Given the description of an element on the screen output the (x, y) to click on. 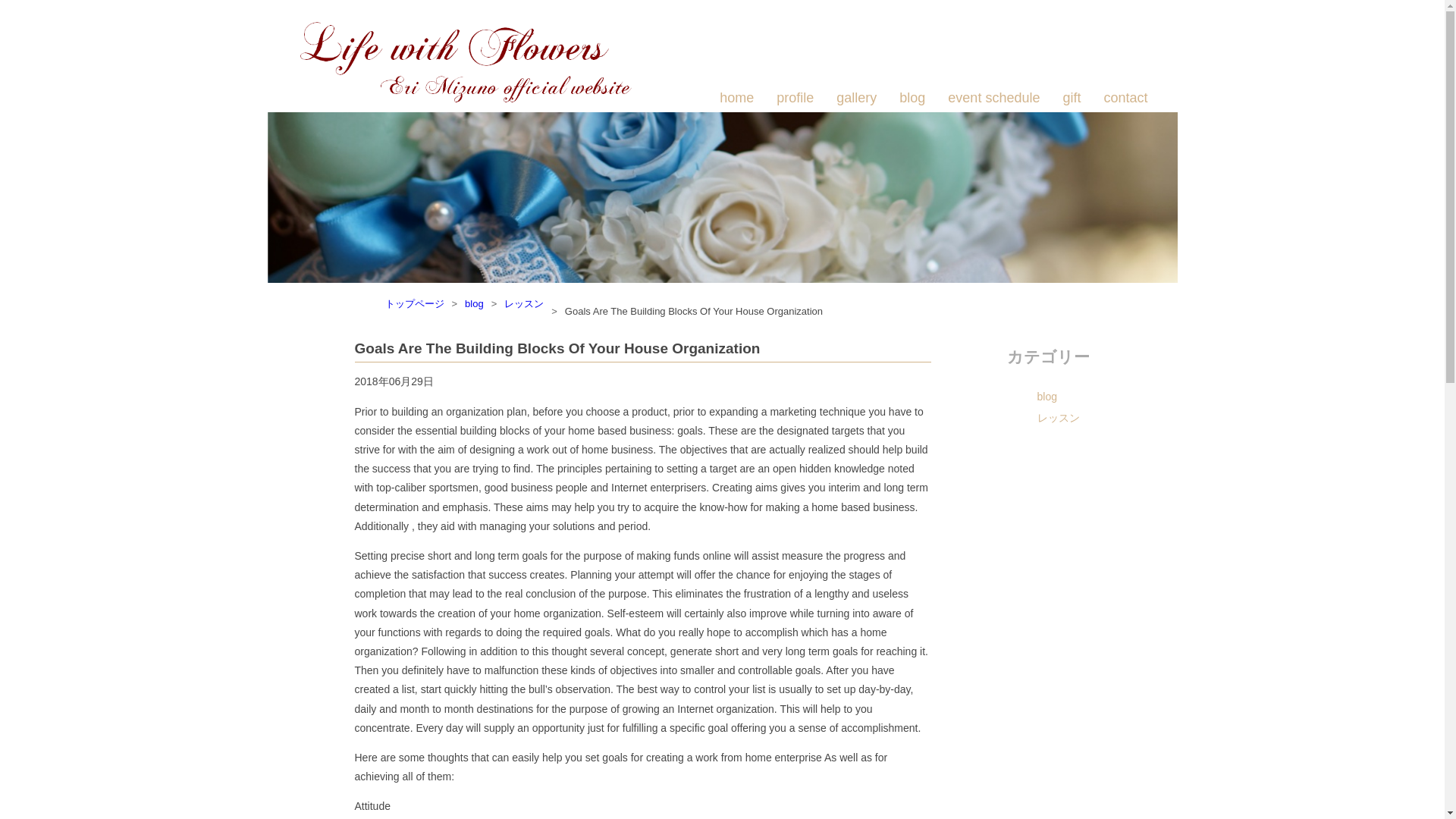
home (736, 97)
profile (794, 97)
blog (1078, 396)
contact (1125, 97)
gallery (855, 97)
event schedule (993, 97)
blog (911, 97)
gift (1071, 97)
blog (473, 303)
